Given the description of an element on the screen output the (x, y) to click on. 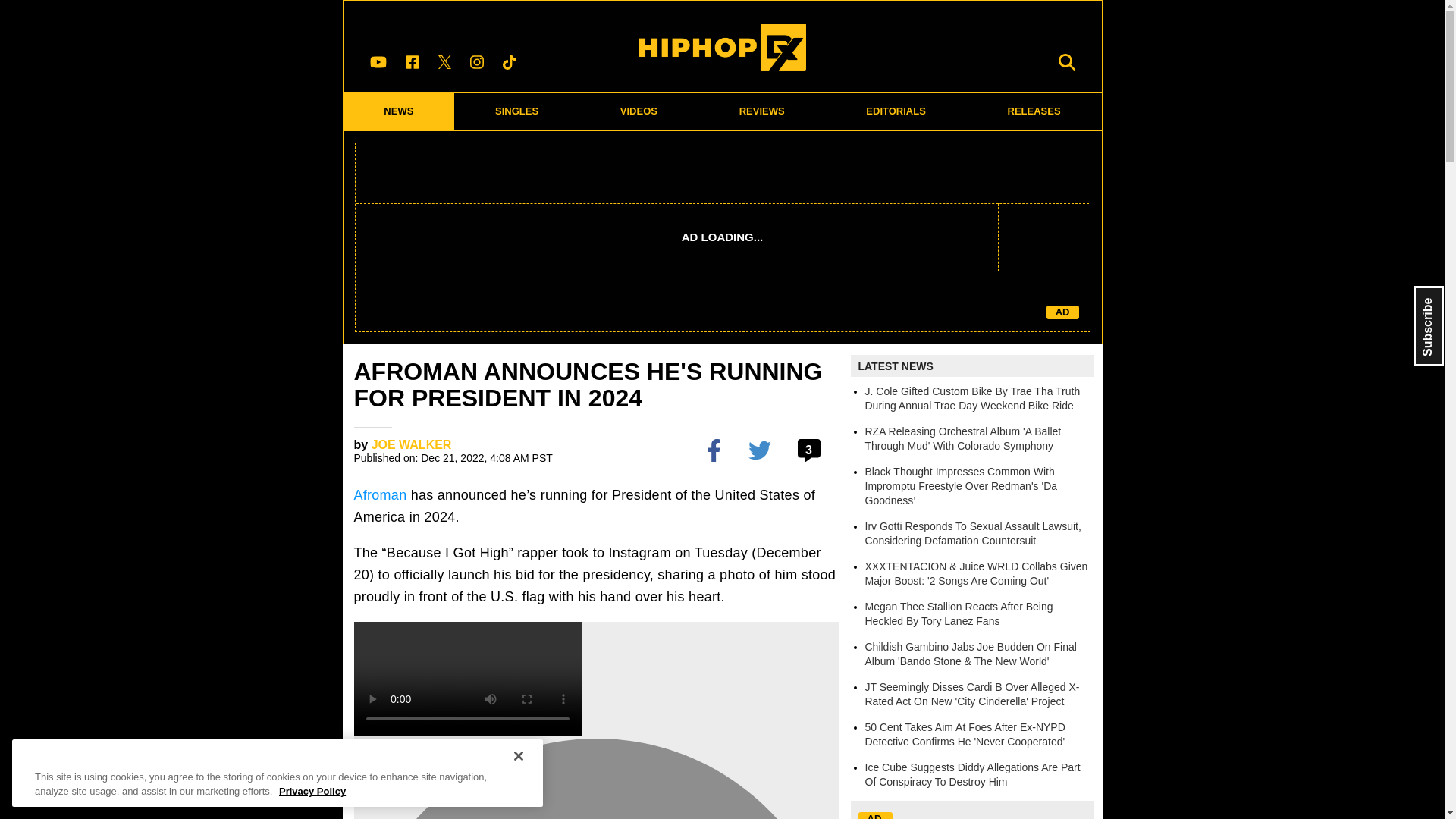
3 (810, 449)
RELEASES (1034, 111)
VIDEOS (638, 111)
EDITORIALS (895, 111)
SINGLES (516, 111)
NEWS (398, 111)
JOE WALKER (411, 444)
REVIEWS (761, 111)
Afroman (379, 494)
